Given the description of an element on the screen output the (x, y) to click on. 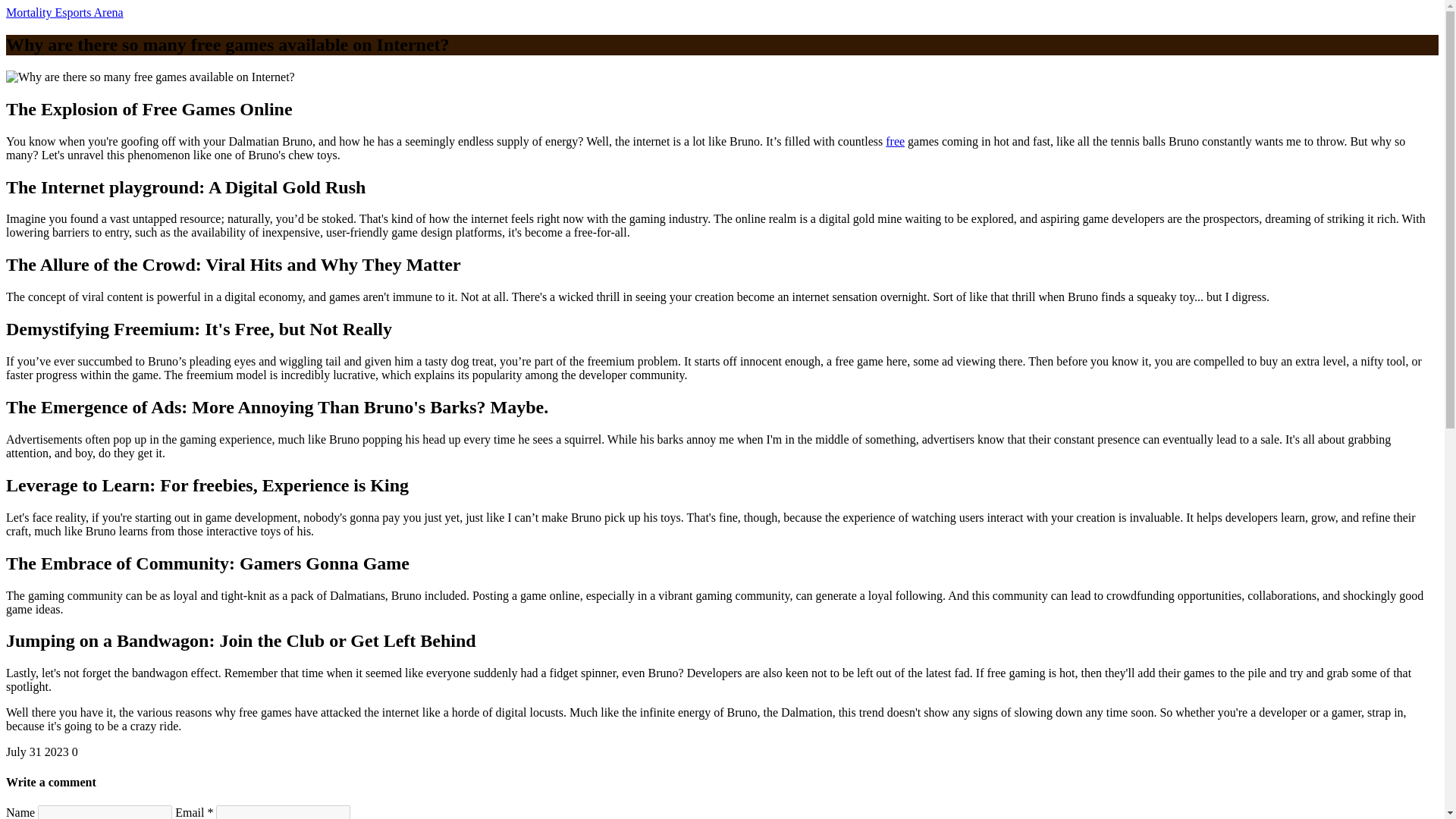
Mortality Esports Arena (64, 11)
free (894, 141)
What are some of the best online games available for free? (894, 141)
